Given the description of an element on the screen output the (x, y) to click on. 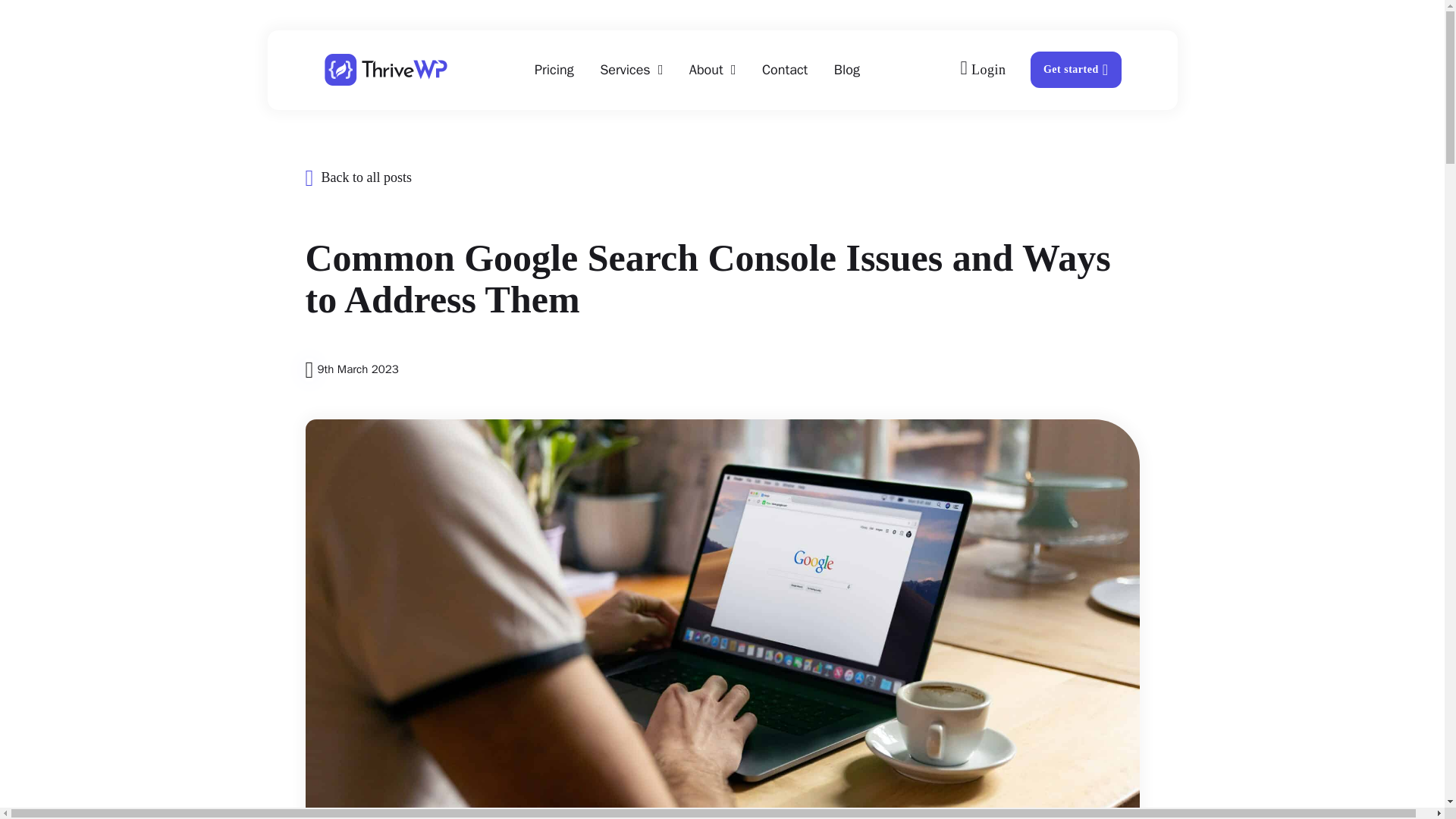
Contact (784, 69)
Services (624, 69)
About (705, 69)
Pricing (553, 69)
Blog (847, 69)
